Given the description of an element on the screen output the (x, y) to click on. 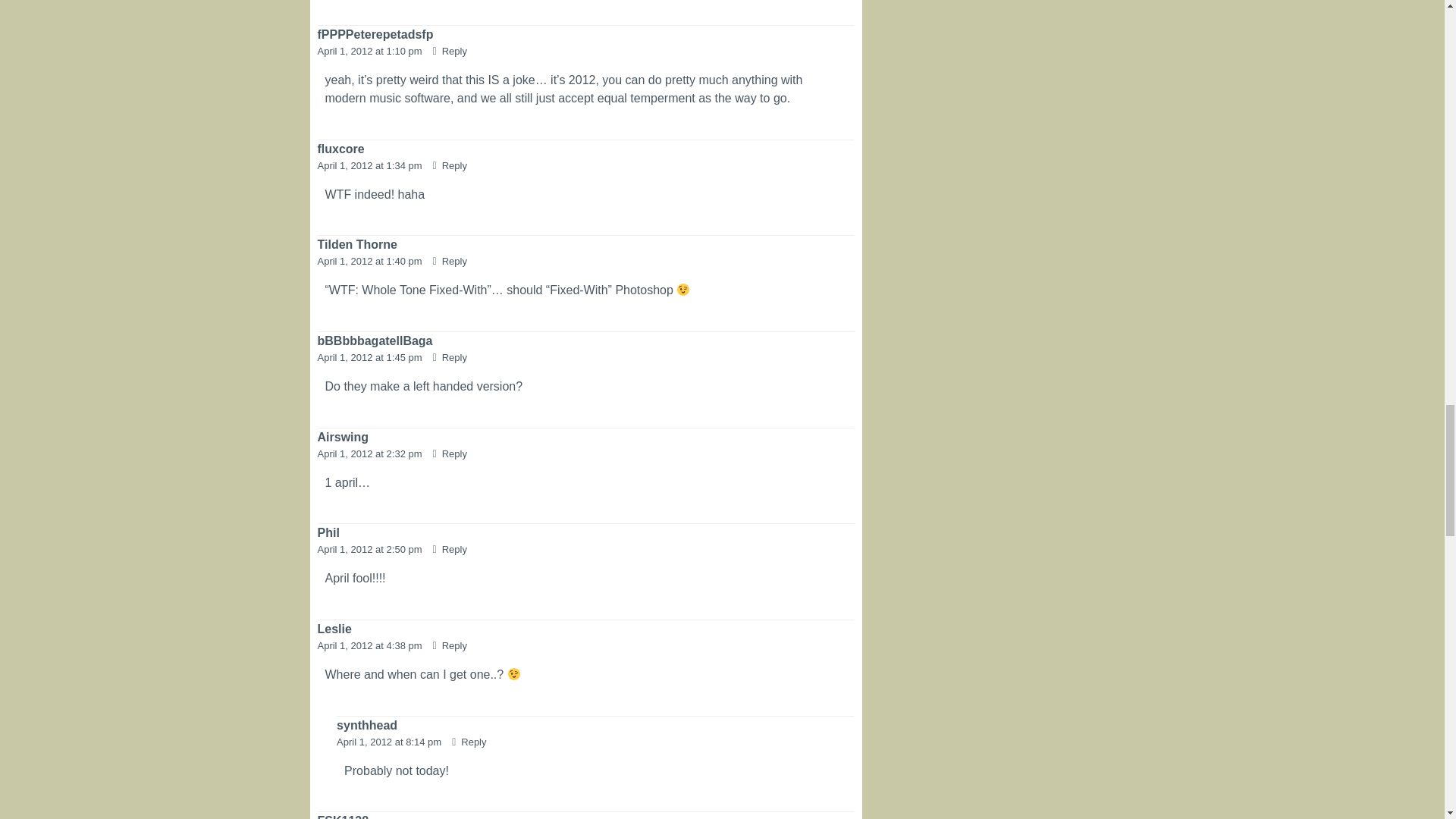
Reply (449, 50)
Reply (449, 260)
April 1, 2012 at 1:34 pm (371, 165)
April 1, 2012 at 2:32 pm (371, 453)
April 1, 2012 at 1:40 pm (371, 260)
Reply (449, 165)
Reply (449, 357)
April 1, 2012 at 1:45 pm (371, 357)
April 1, 2012 at 1:10 pm (371, 50)
